Given the description of an element on the screen output the (x, y) to click on. 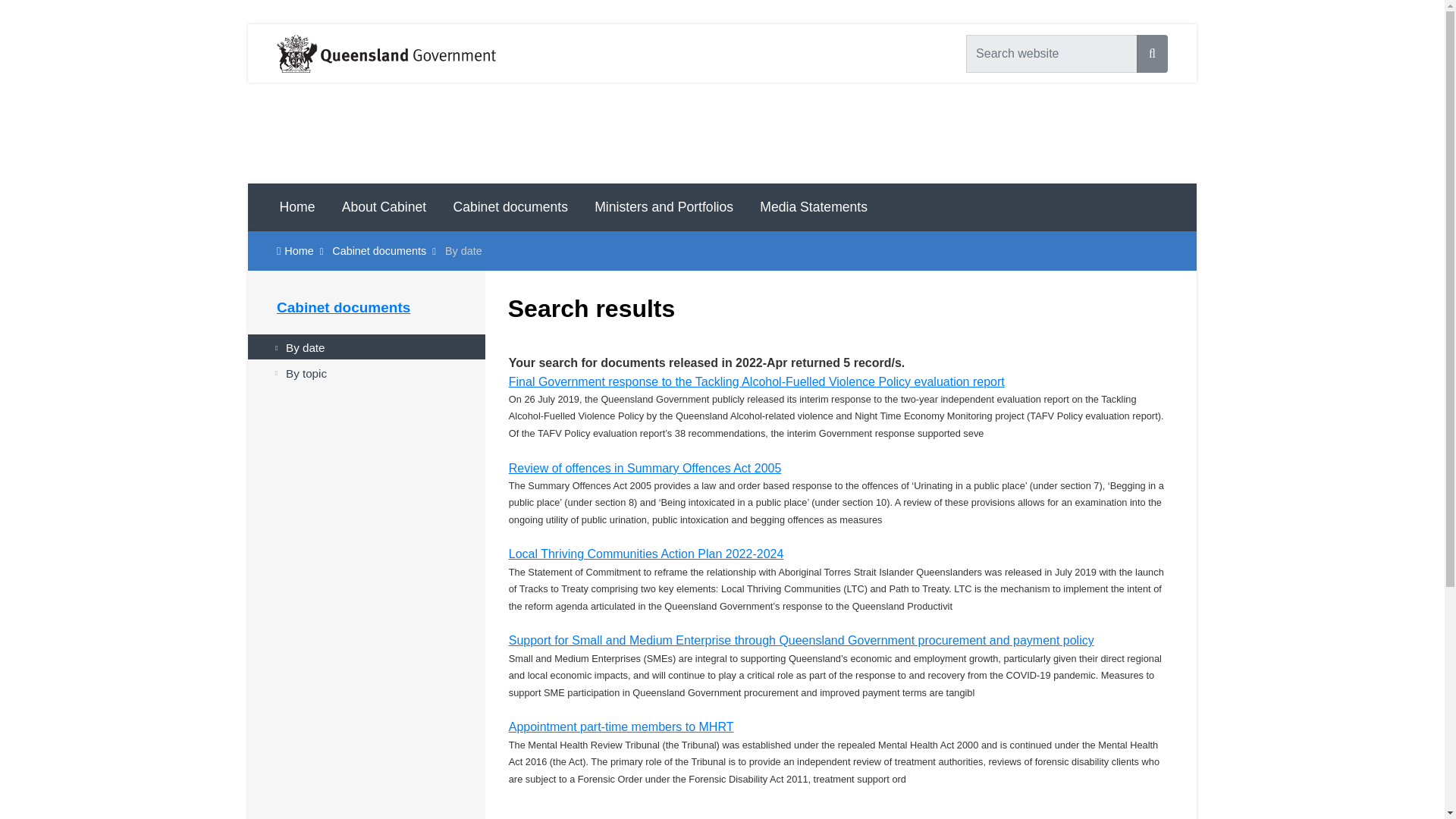
Cabinet documents (378, 250)
Home (298, 250)
Appointment part-time members to MHRT (620, 726)
Ministers and Portfolios (663, 206)
Media Statements (813, 206)
Review of offences in Summary Offences Act 2005 (644, 467)
About Cabinet (384, 206)
By topic (365, 371)
By date (365, 346)
Cabinet documents (343, 307)
Local Thriving Communities Action Plan 2022-2024 (646, 553)
The Queensland Cabinet and Ministerial Directory (722, 132)
Home (297, 206)
